Given the description of an element on the screen output the (x, y) to click on. 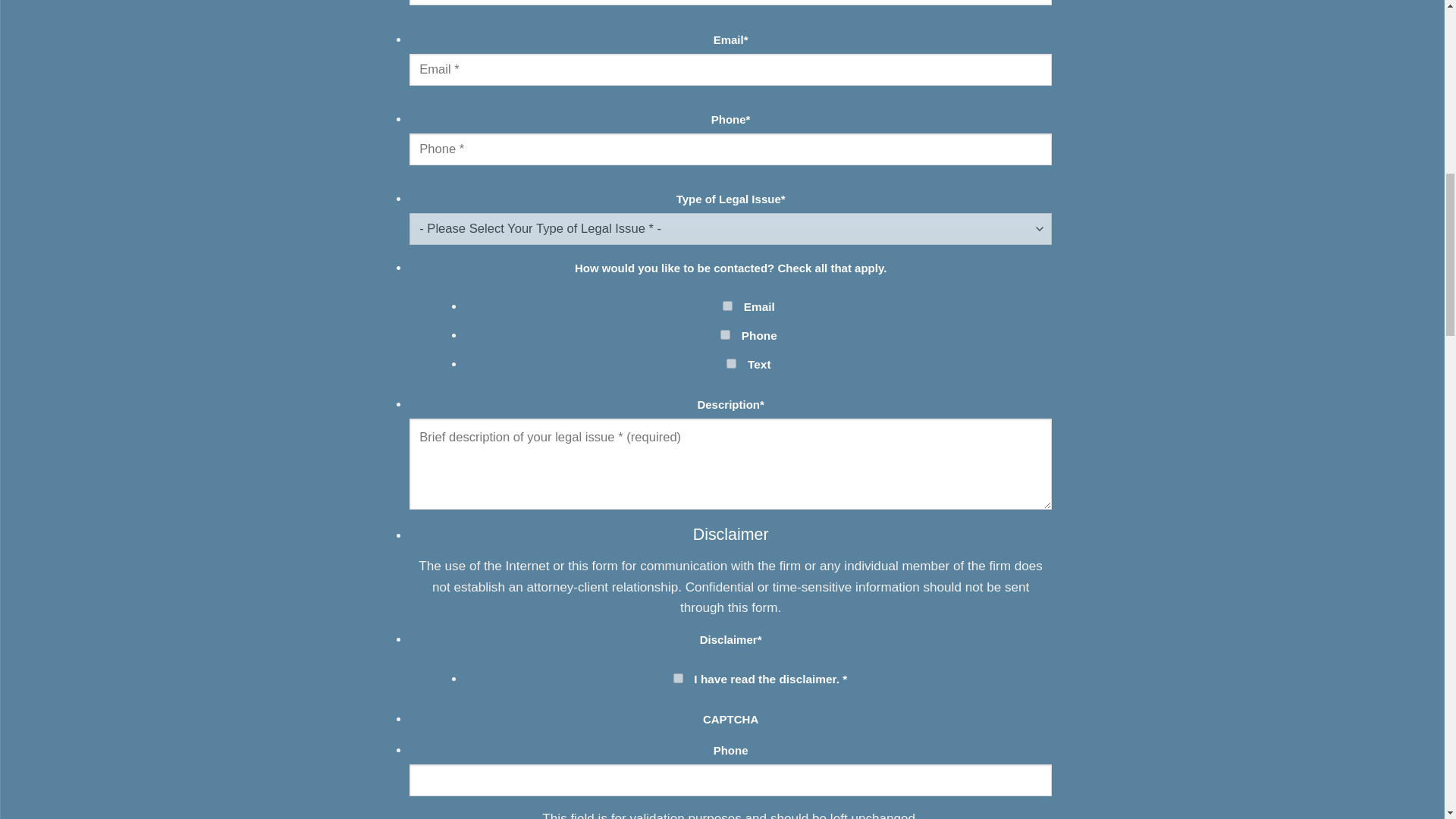
Text (731, 363)
Email (727, 306)
Phone (725, 334)
